Given the description of an element on the screen output the (x, y) to click on. 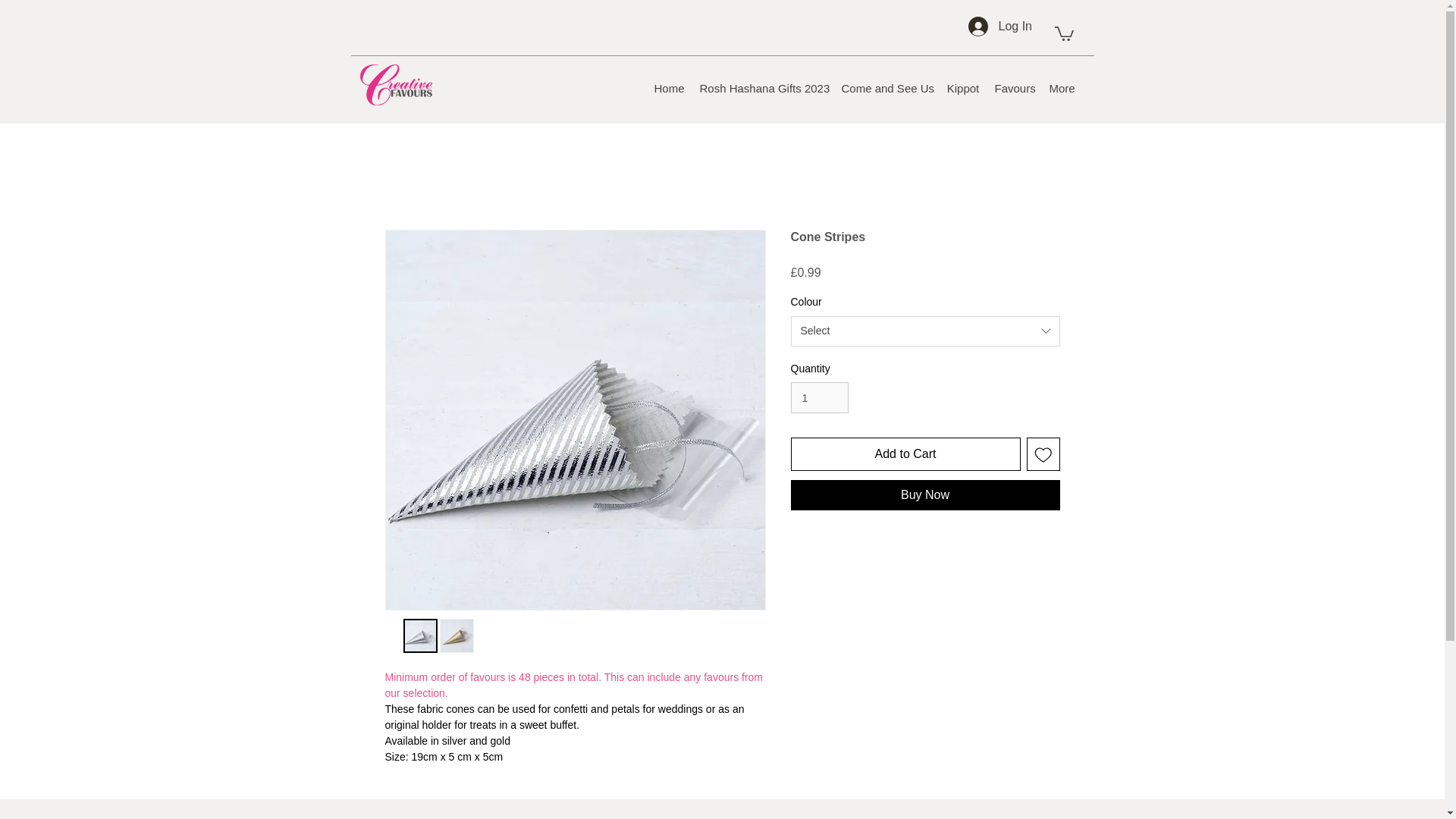
Come and See Us (886, 88)
Log In (987, 26)
Kippot (963, 88)
Buy Now (924, 494)
Rosh Hashana Gifts 2023 (761, 88)
Add to Cart (905, 453)
Home (668, 88)
1 (818, 397)
Favours (1014, 88)
Select (924, 331)
